Given the description of an element on the screen output the (x, y) to click on. 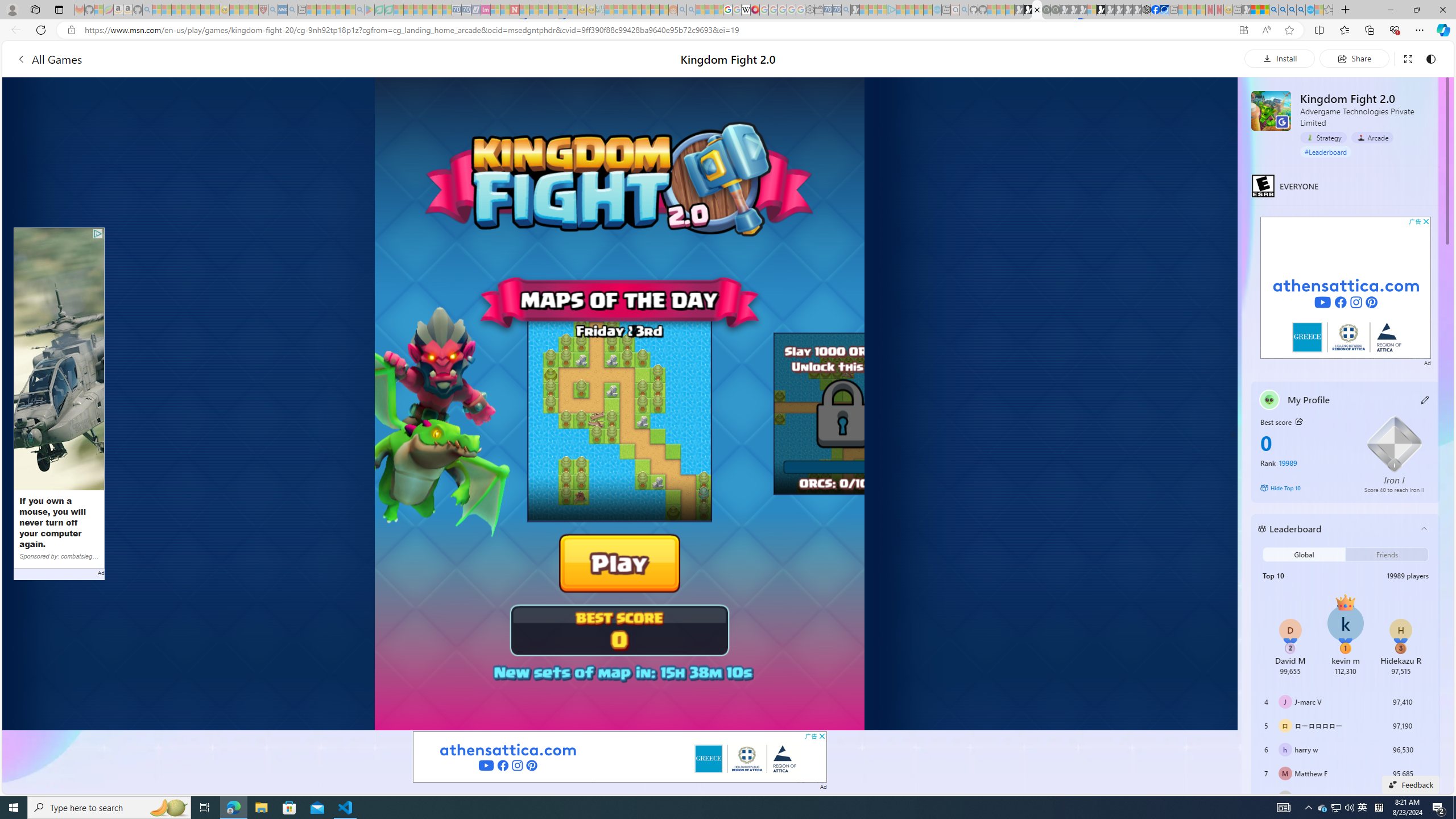
Cheap Hotels - Save70.com - Sleeping (466, 9)
Leaderboard (1336, 529)
Change to dark mode (1430, 58)
Bing Real Estate - Home sales and rental listings - Sleeping (846, 9)
Advertisement (1345, 287)
AirNow.gov (1163, 9)
